Given the description of an element on the screen output the (x, y) to click on. 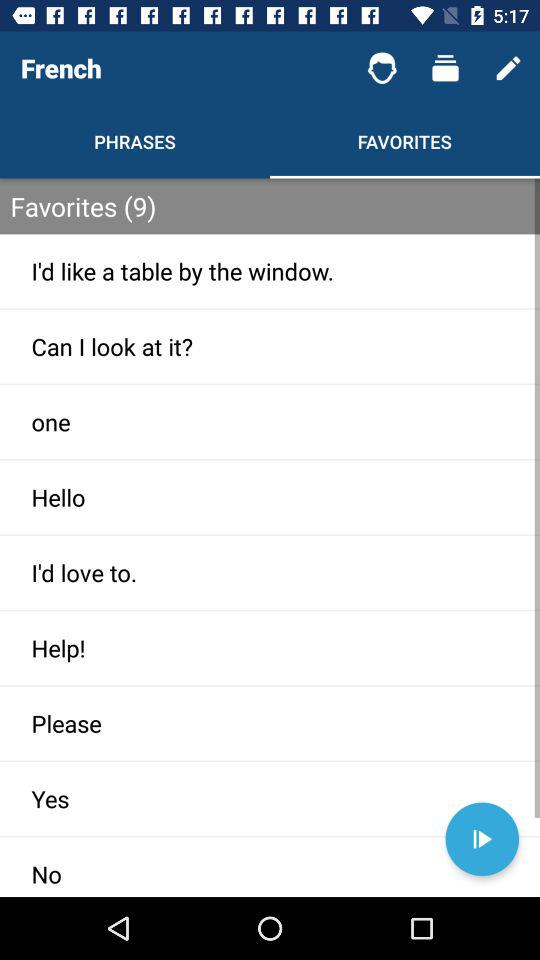
choose the item above the favorites (381, 67)
